Given the description of an element on the screen output the (x, y) to click on. 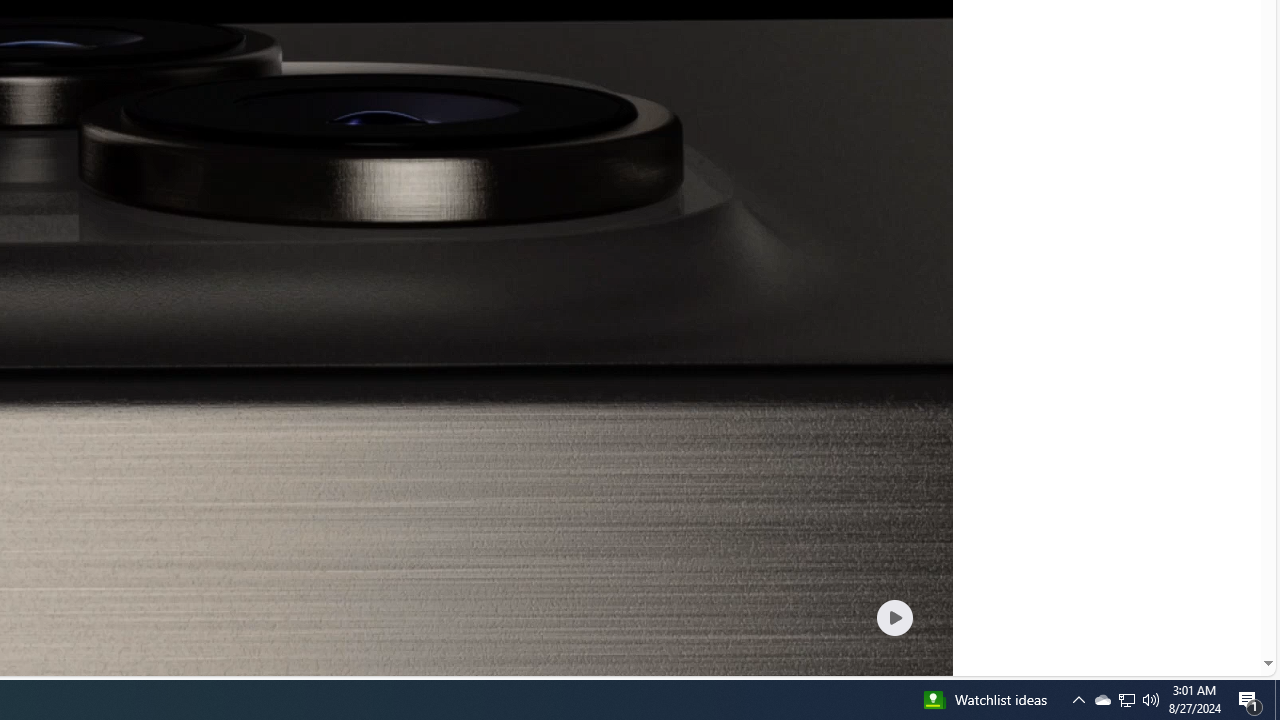
Play welcome animation video (893, 617)
Class: control-centered-small-icon (894, 617)
